Given the description of an element on the screen output the (x, y) to click on. 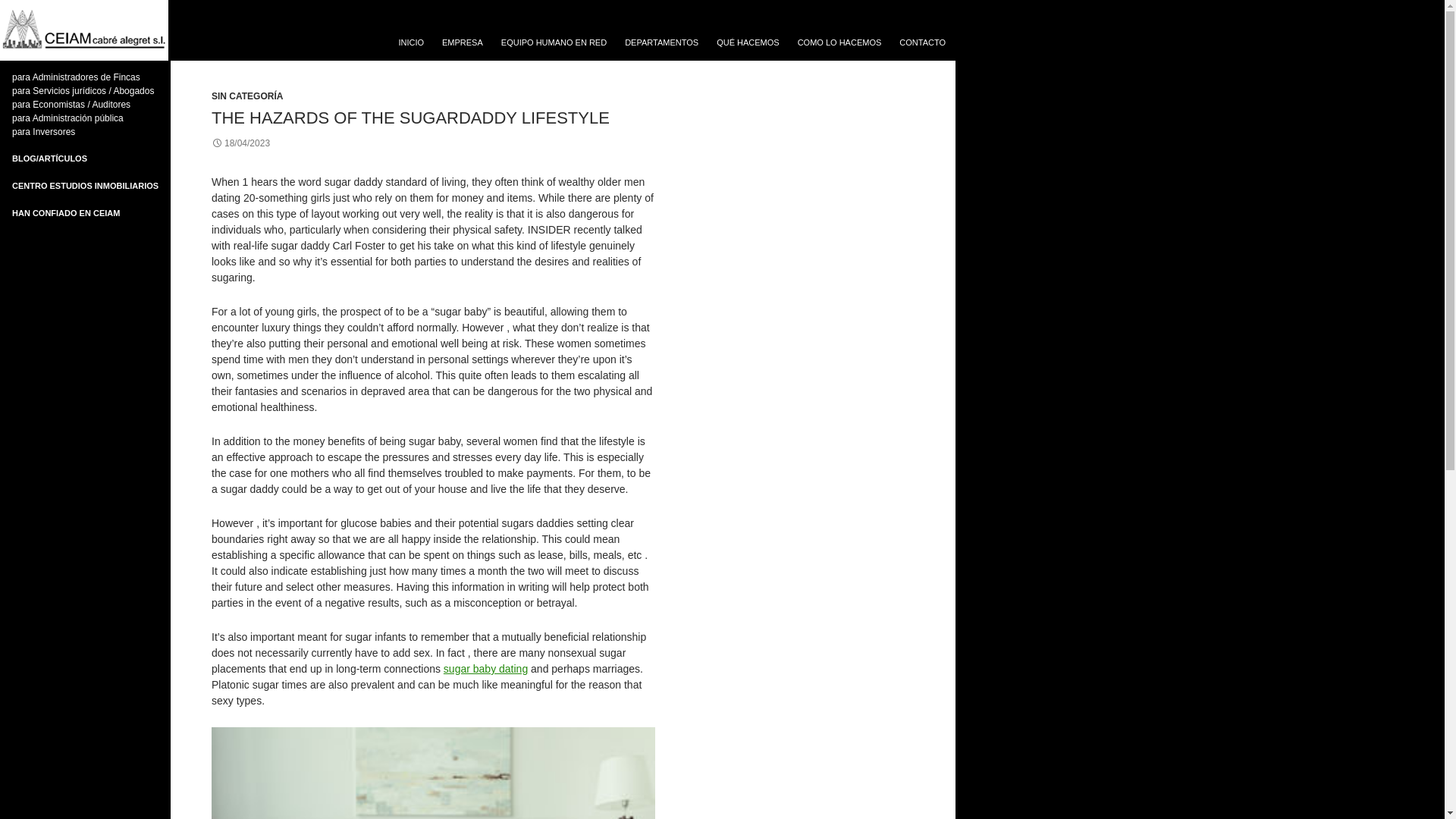
EQUIPO HUMANO EN RED (553, 42)
HAN CONFIADO EN CEIAM (65, 212)
sugar baby dating (485, 668)
COMO LO HACEMOS (840, 42)
DEPARTAMENTOS (661, 42)
para Administradores de Fincas (75, 77)
CONTACTO (922, 42)
INICIO (410, 42)
para Inversores (43, 131)
CENTRO ESTUDIOS INMOBILIARIOS (84, 185)
